Given the description of an element on the screen output the (x, y) to click on. 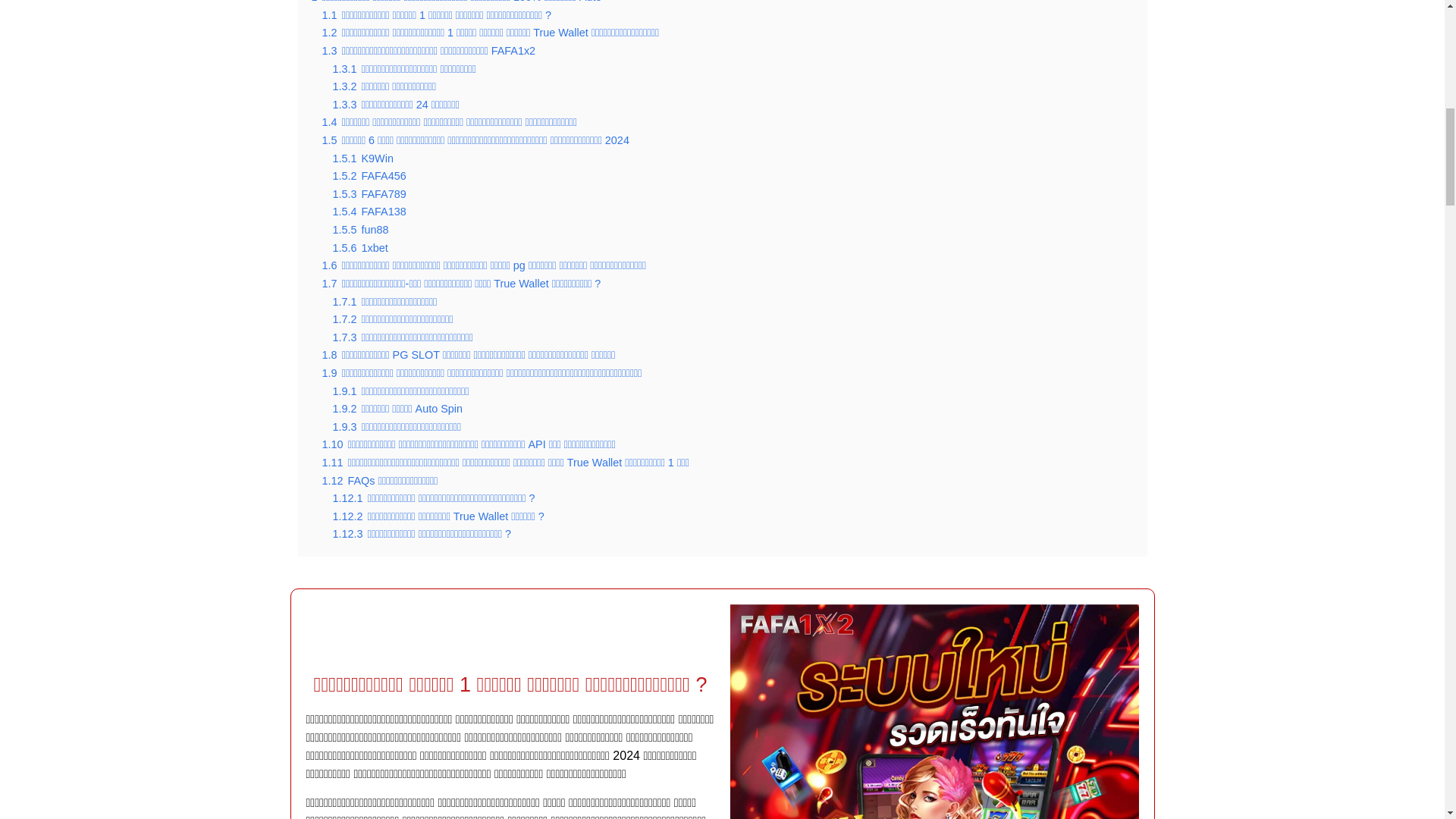
1.5.3 FAFA789 (368, 193)
1.5.4 FAFA138 (368, 211)
1.5.1 K9Win (362, 158)
1.5.6 1xbet (359, 247)
1.5.5 fun88 (359, 229)
1.5.2 FAFA456 (368, 175)
